Given the description of an element on the screen output the (x, y) to click on. 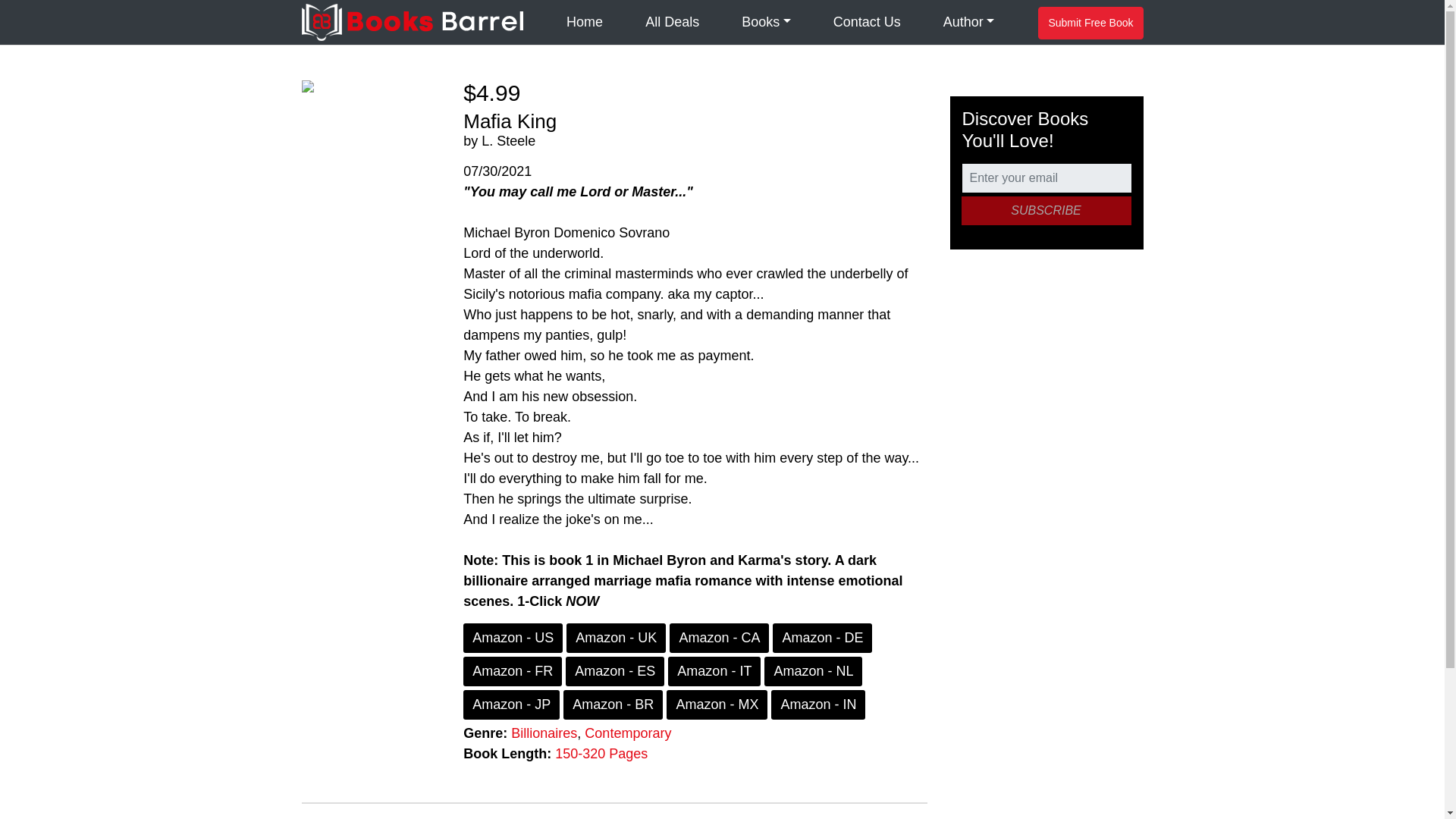
Amazon - ES (614, 671)
Amazon - FR (512, 671)
Amazon - DE (822, 637)
Contact Us (866, 22)
Amazon - MX (716, 704)
All Deals (672, 22)
Amazon - JP (511, 704)
Amazon - BR (612, 704)
Contemporary (628, 733)
150-320 Pages (600, 753)
Home (584, 22)
Amazon - US (512, 637)
Amazon - CA (718, 637)
Amazon - NL (812, 671)
Books (766, 22)
